Given the description of an element on the screen output the (x, y) to click on. 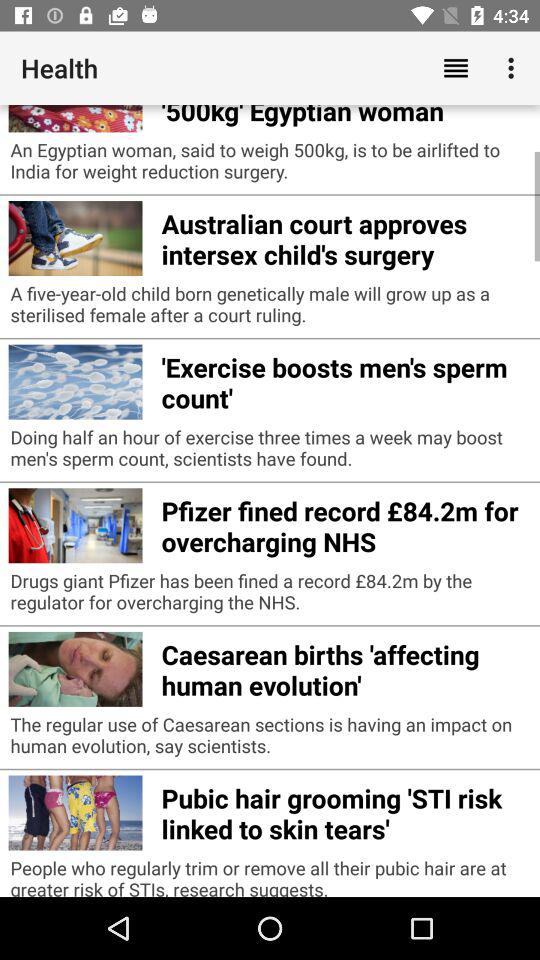
tap the drugs giant pfizer (270, 596)
